Given the description of an element on the screen output the (x, y) to click on. 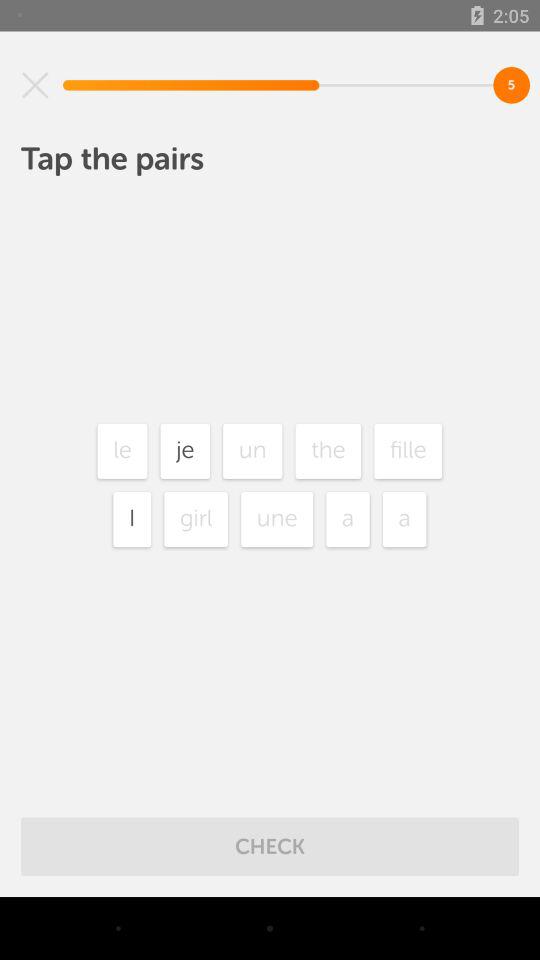
tap icon below the le icon (132, 519)
